Given the description of an element on the screen output the (x, y) to click on. 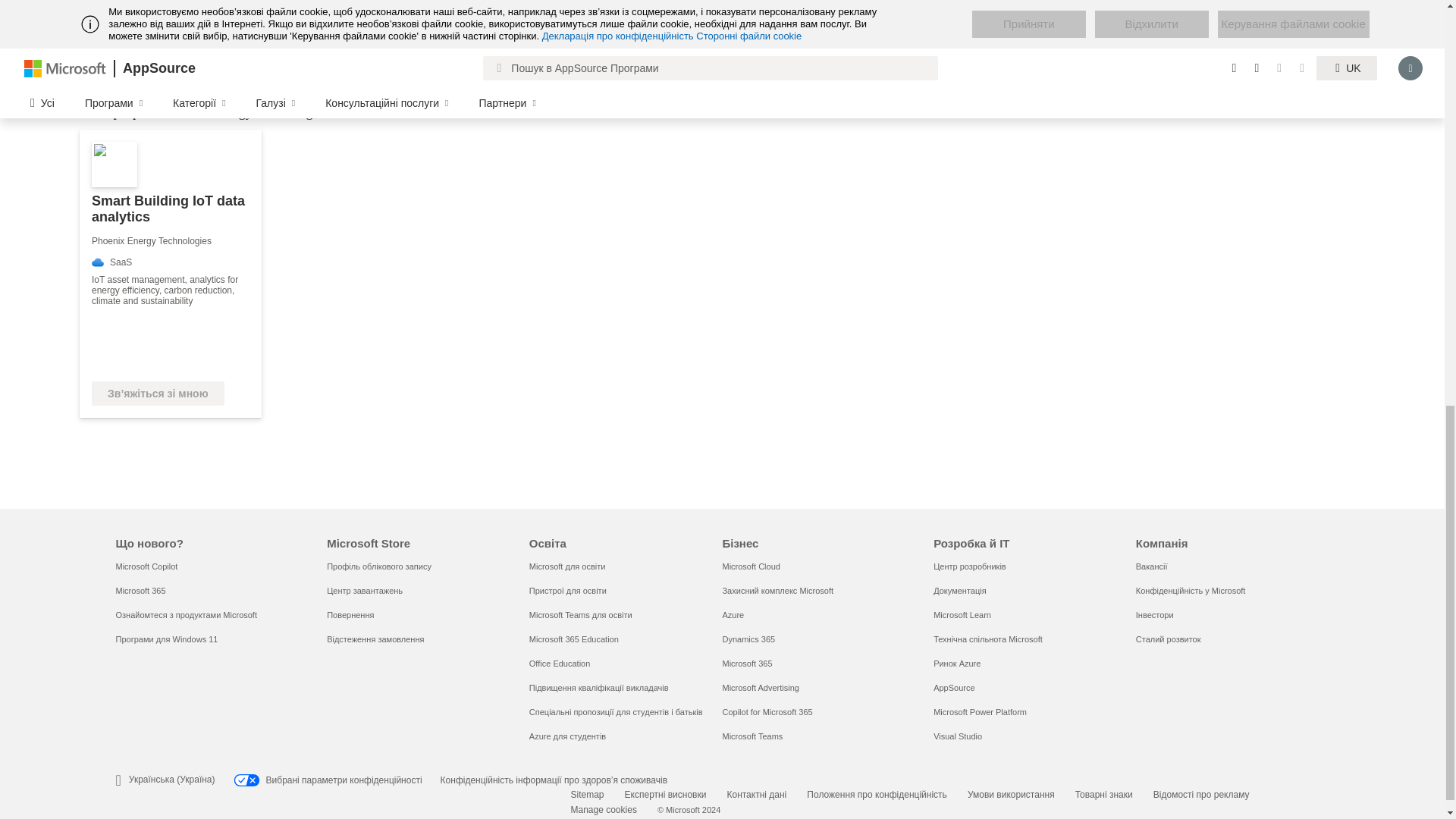
Microsoft 365 (140, 590)
Microsoft Copilot (146, 565)
